Given the description of an element on the screen output the (x, y) to click on. 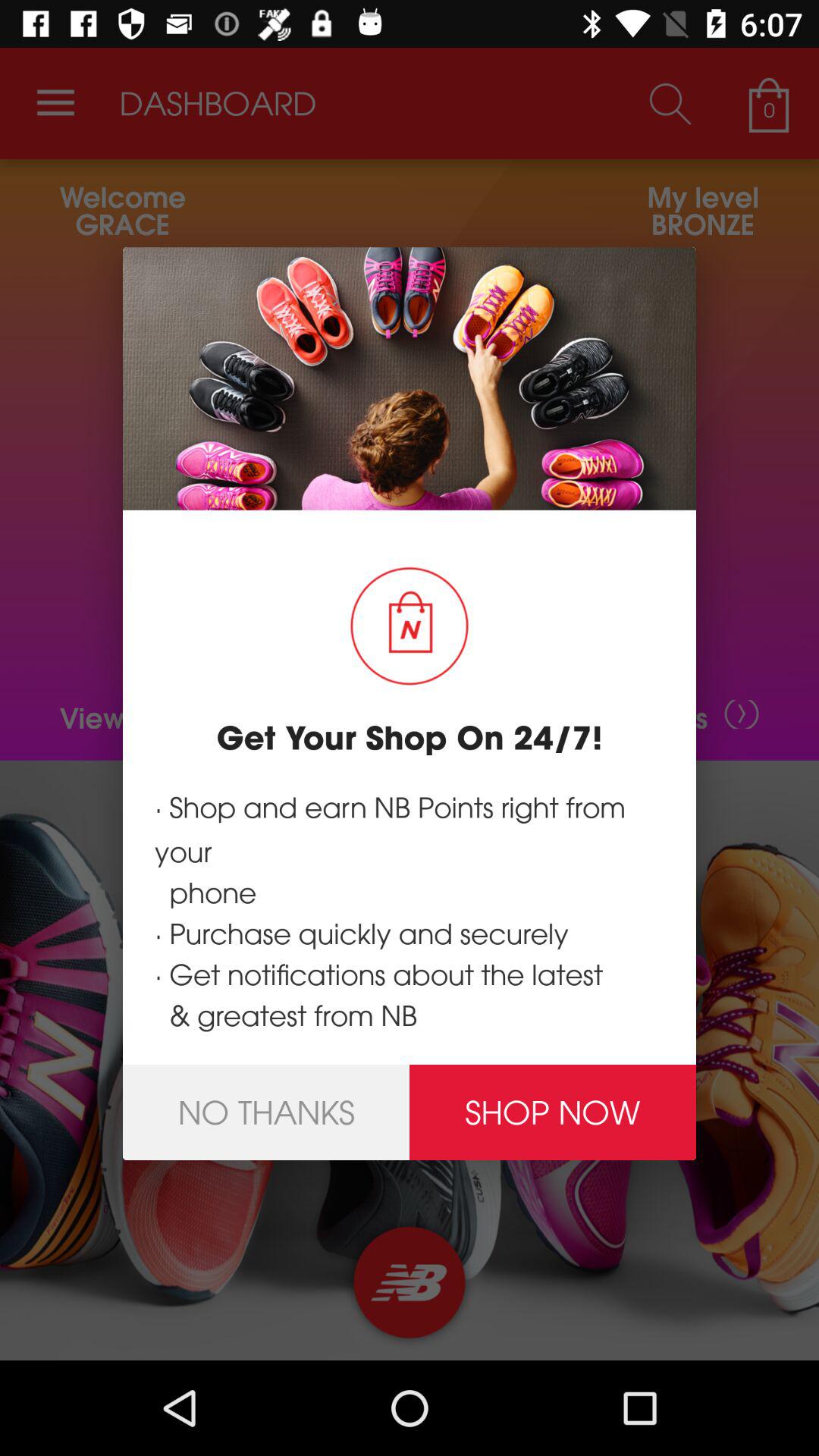
press icon below the shop and earn (265, 1112)
